Given the description of an element on the screen output the (x, y) to click on. 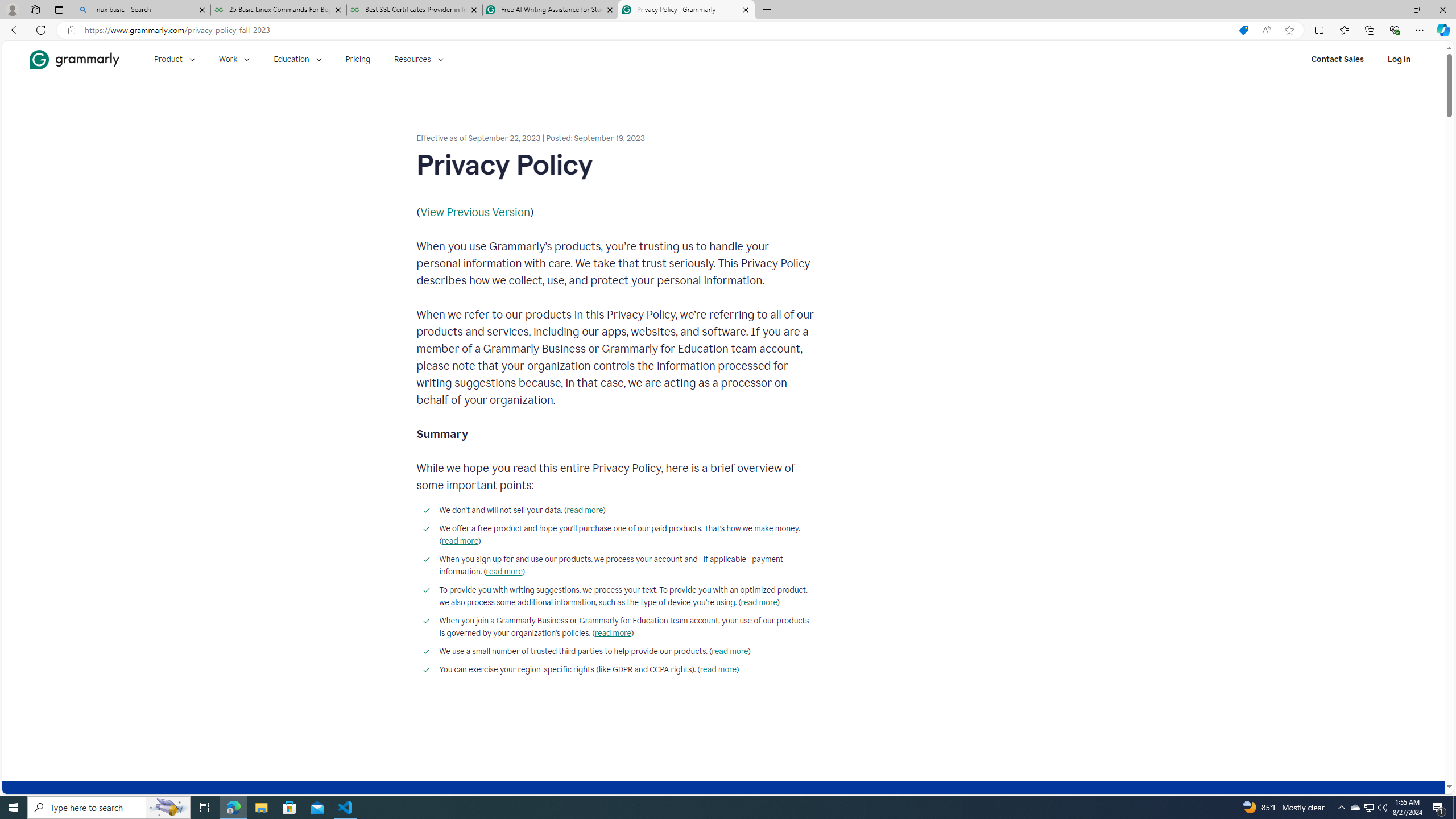
Product (174, 58)
Pricing (357, 58)
Pricing (357, 58)
View Previous Version (474, 211)
